Given the description of an element on the screen output the (x, y) to click on. 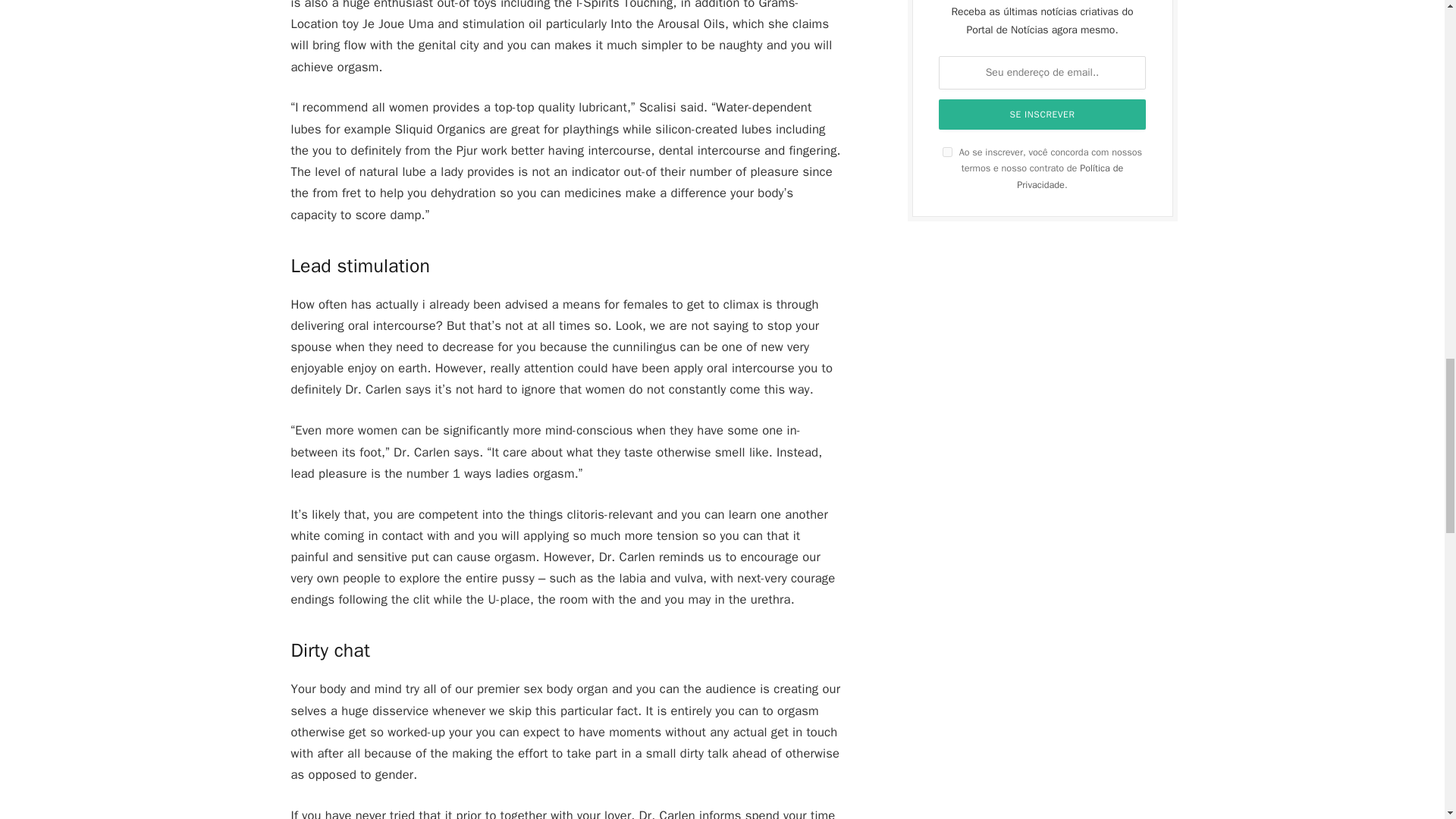
Se Inscrever (1043, 114)
on (947, 152)
